Given the description of an element on the screen output the (x, y) to click on. 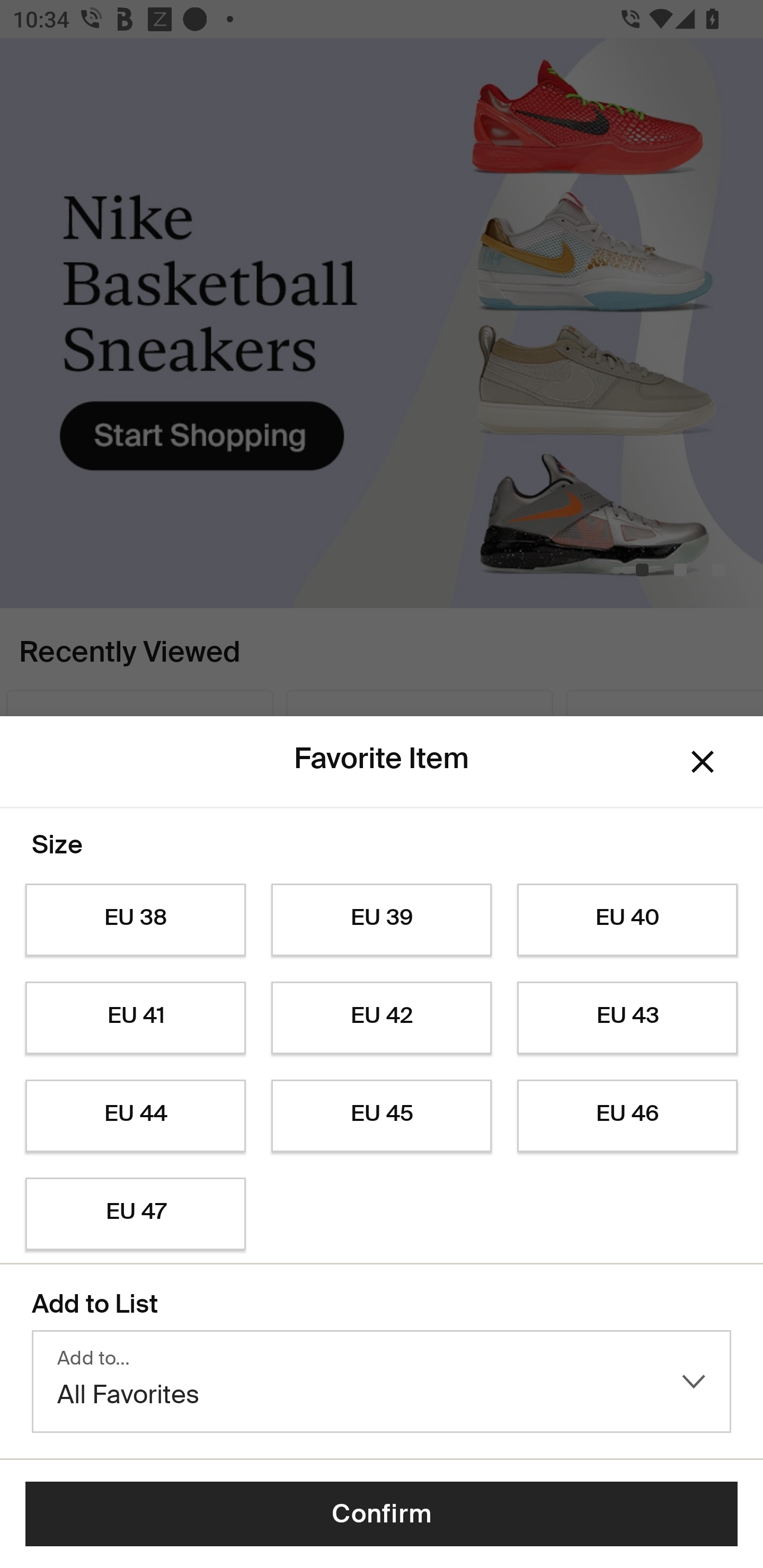
Dismiss (702, 760)
EU 38 (135, 919)
EU 39 (381, 919)
EU 40 (627, 919)
EU 41 (135, 1018)
EU 42 (381, 1018)
EU 43 (627, 1018)
EU 44 (135, 1116)
EU 45 (381, 1116)
EU 46 (627, 1116)
EU 47 (135, 1214)
Add to… All Favorites (381, 1381)
Confirm (381, 1513)
